Given the description of an element on the screen output the (x, y) to click on. 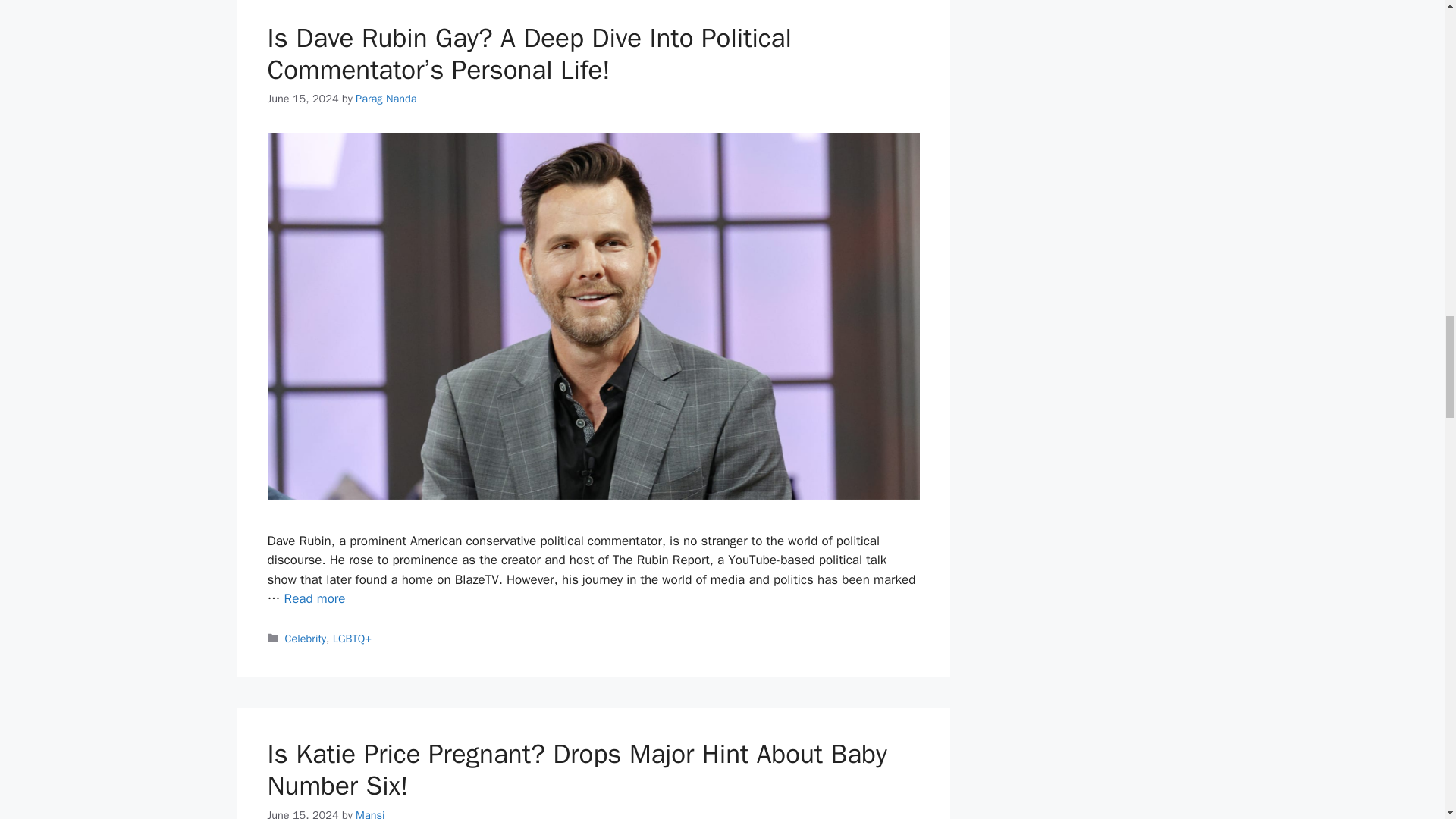
View all posts by Parag Nanda (385, 98)
Mansi (369, 813)
Read more (314, 598)
View all posts by Mansi (369, 813)
Celebrity (305, 638)
Parag Nanda (385, 98)
